Given the description of an element on the screen output the (x, y) to click on. 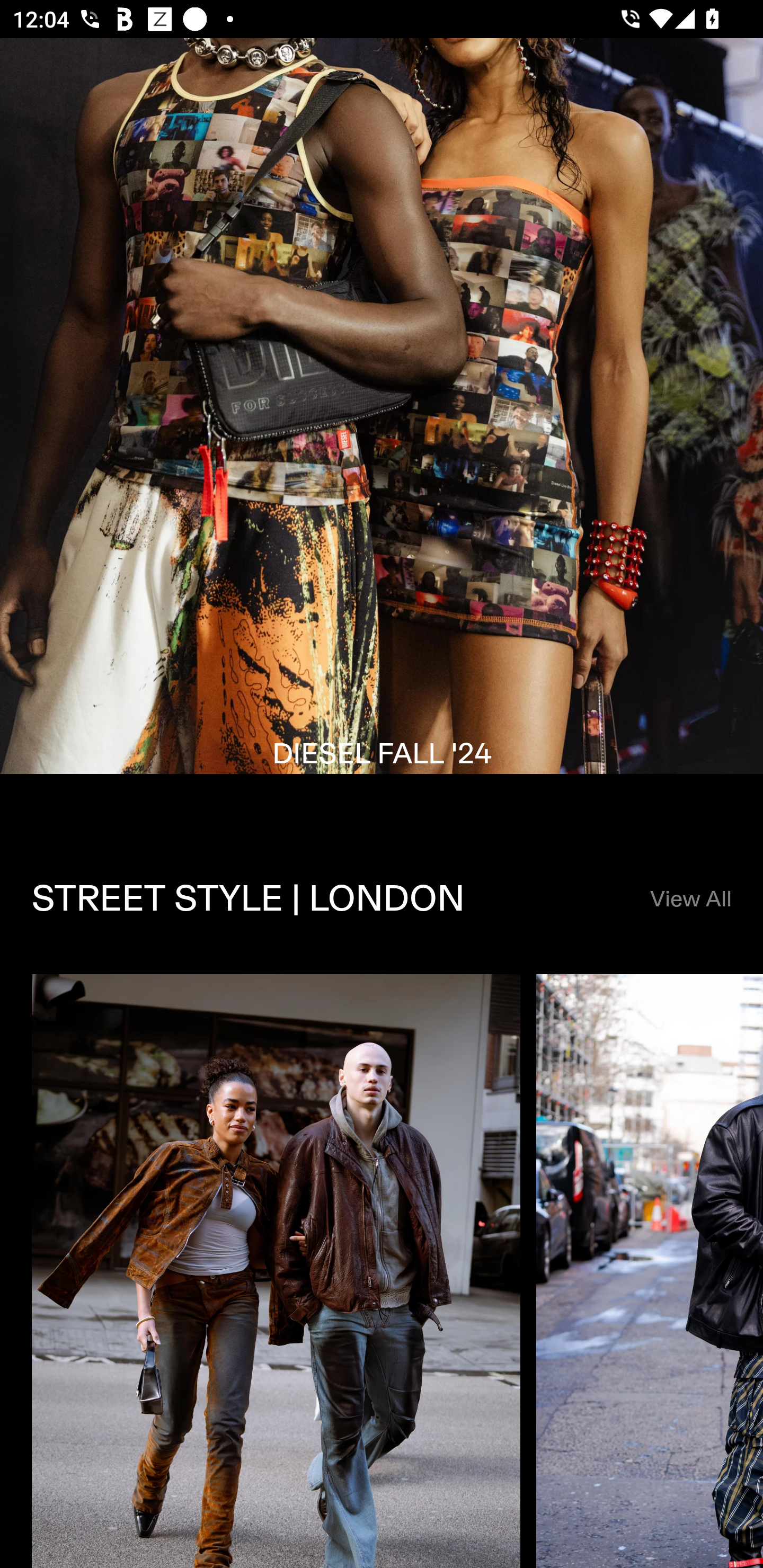
View All (690, 899)
